Given the description of an element on the screen output the (x, y) to click on. 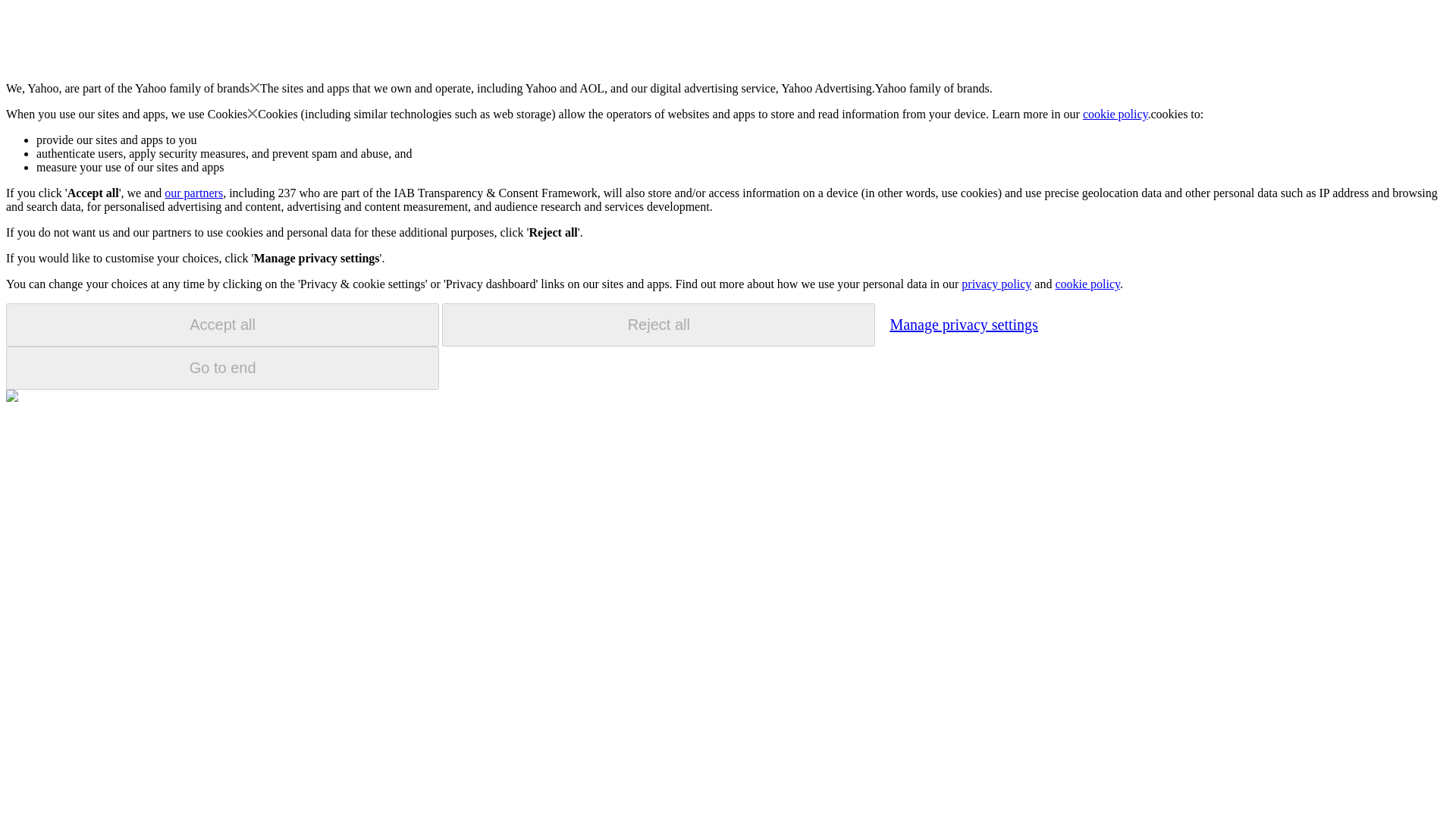
Reject all (658, 324)
cookie policy (1086, 283)
Accept all (222, 324)
privacy policy (995, 283)
cookie policy (1115, 113)
Manage privacy settings (963, 323)
Go to end (222, 367)
our partners (193, 192)
